Given the description of an element on the screen output the (x, y) to click on. 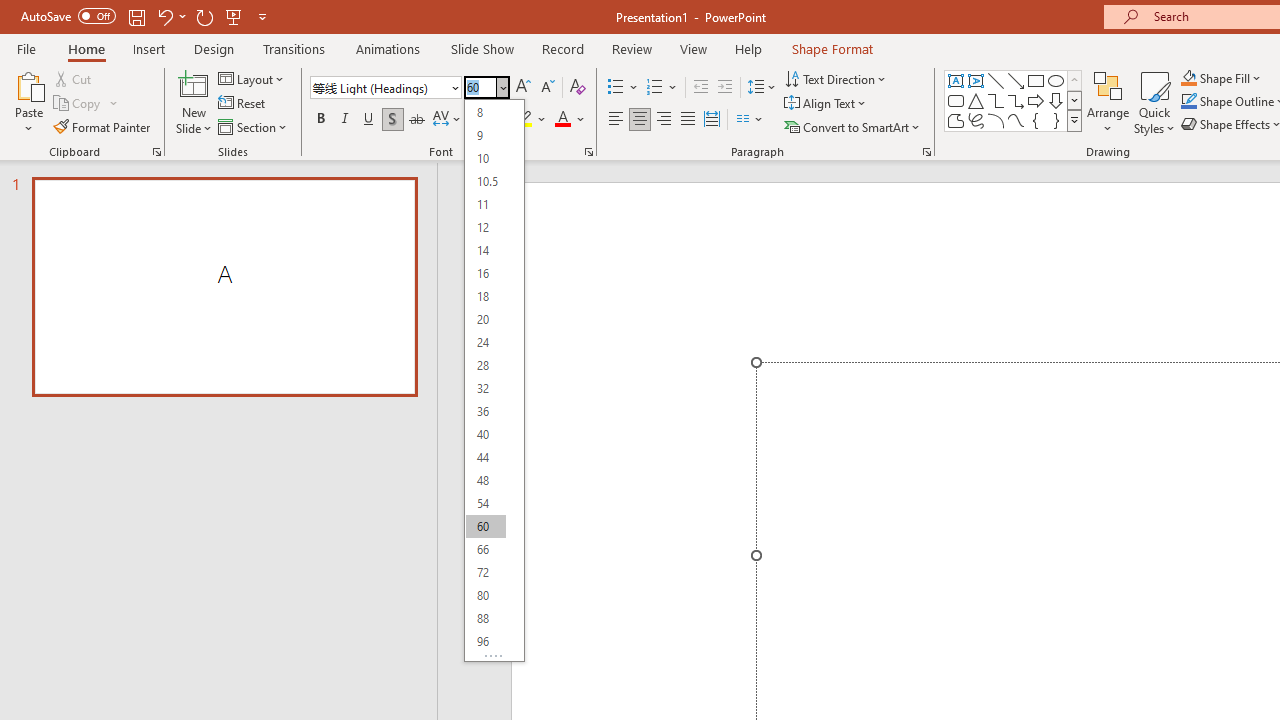
16 (485, 273)
96 (485, 641)
